Given the description of an element on the screen output the (x, y) to click on. 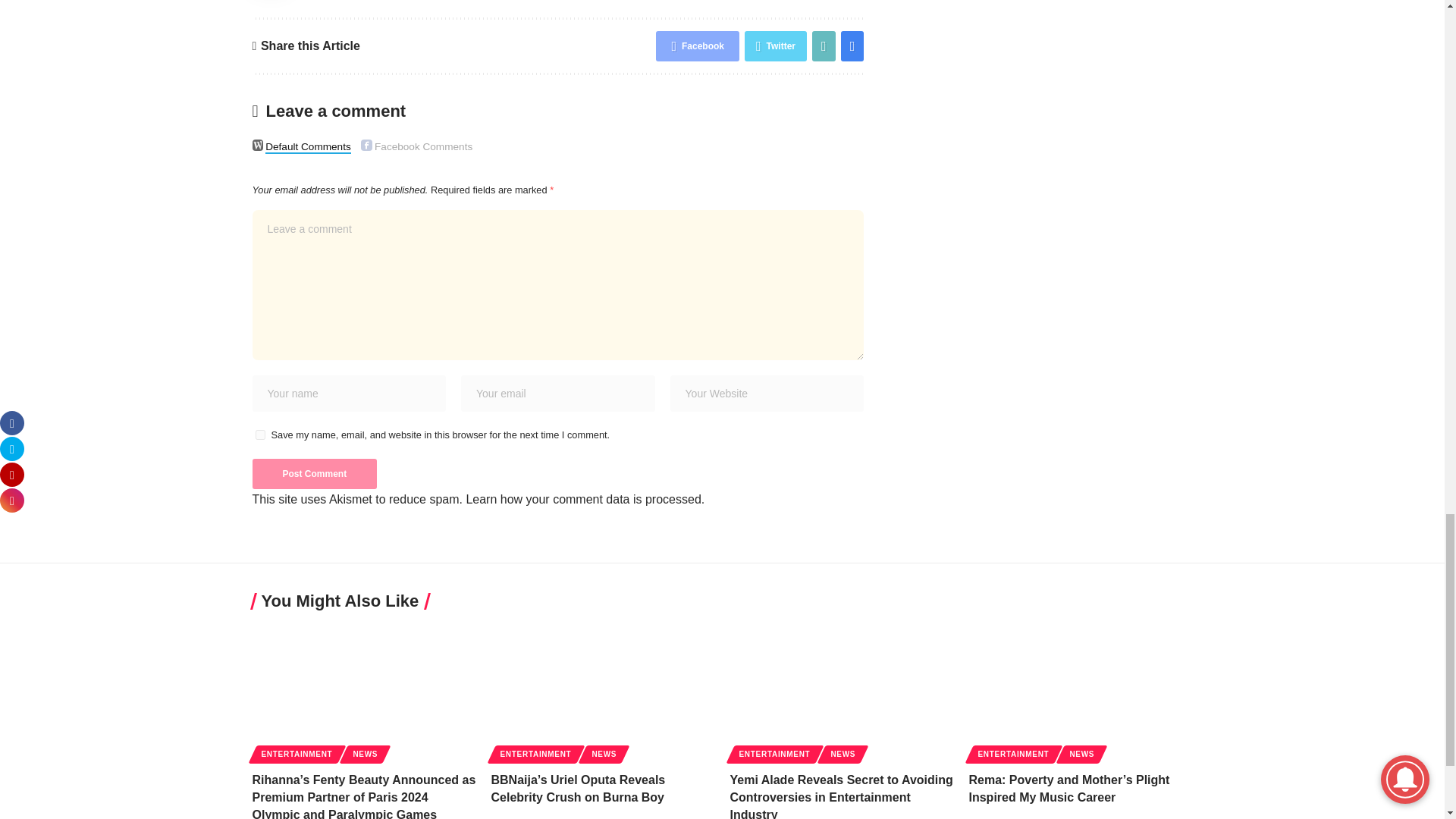
yes (259, 434)
Post Comment (314, 473)
Facebook Comments (366, 144)
Default Comments (257, 144)
